Given the description of an element on the screen output the (x, y) to click on. 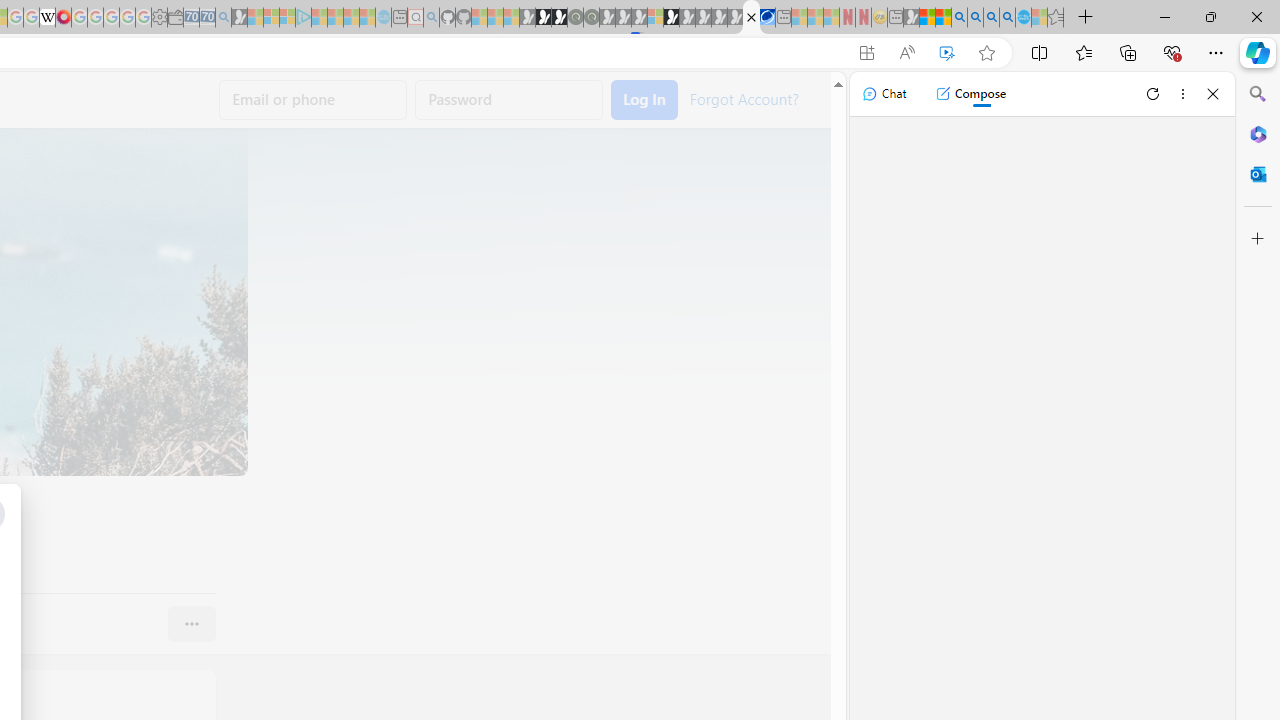
Accessible login button (644, 99)
Future Focus Report 2024 - Sleeping (591, 17)
Target page - Wikipedia (47, 17)
